Given the description of an element on the screen output the (x, y) to click on. 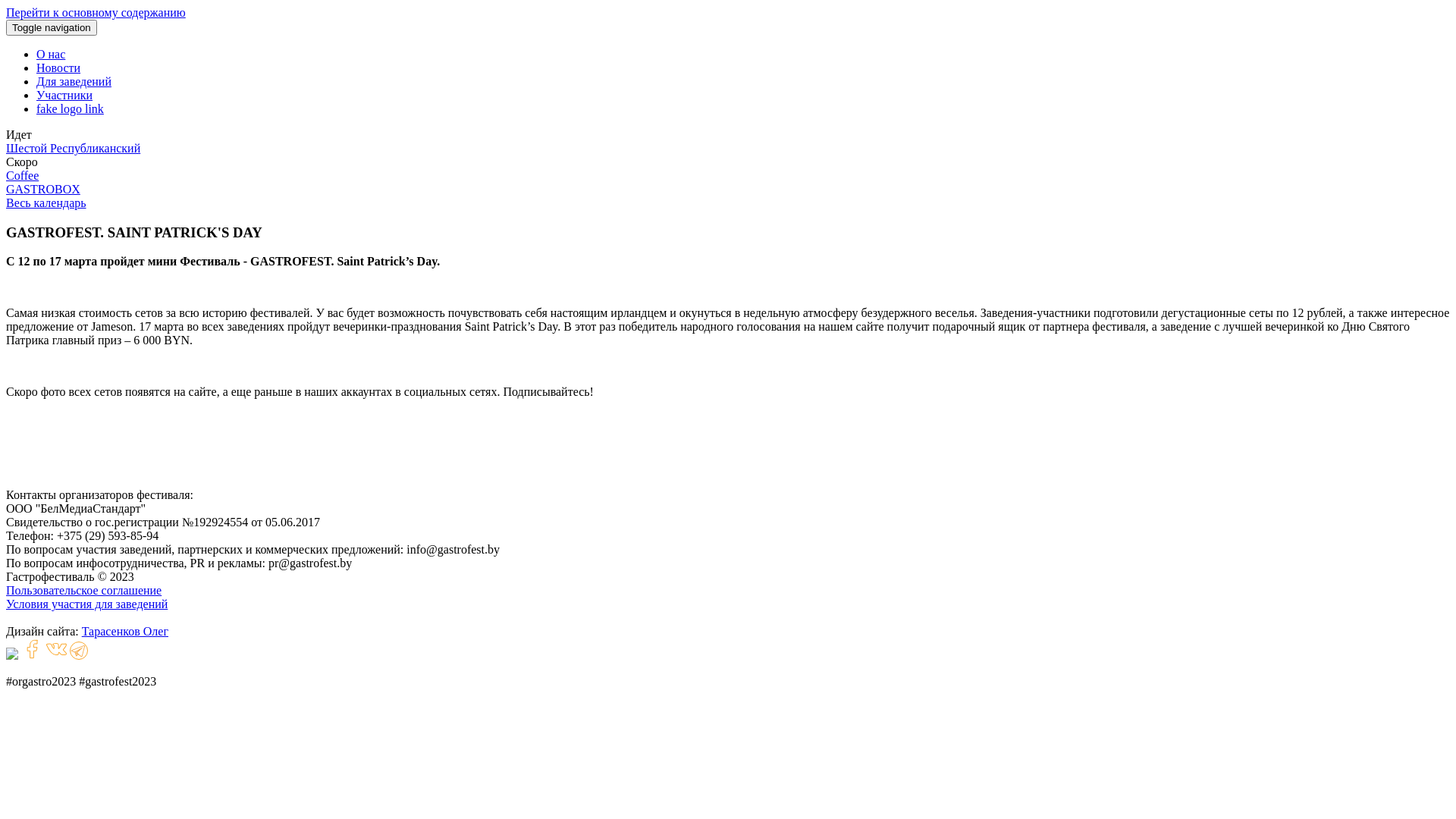
GASTROBOX Element type: text (43, 188)
Coffee Element type: text (22, 175)
Toggle navigation Element type: text (51, 27)
fake logo link Element type: text (69, 108)
